Given the description of an element on the screen output the (x, y) to click on. 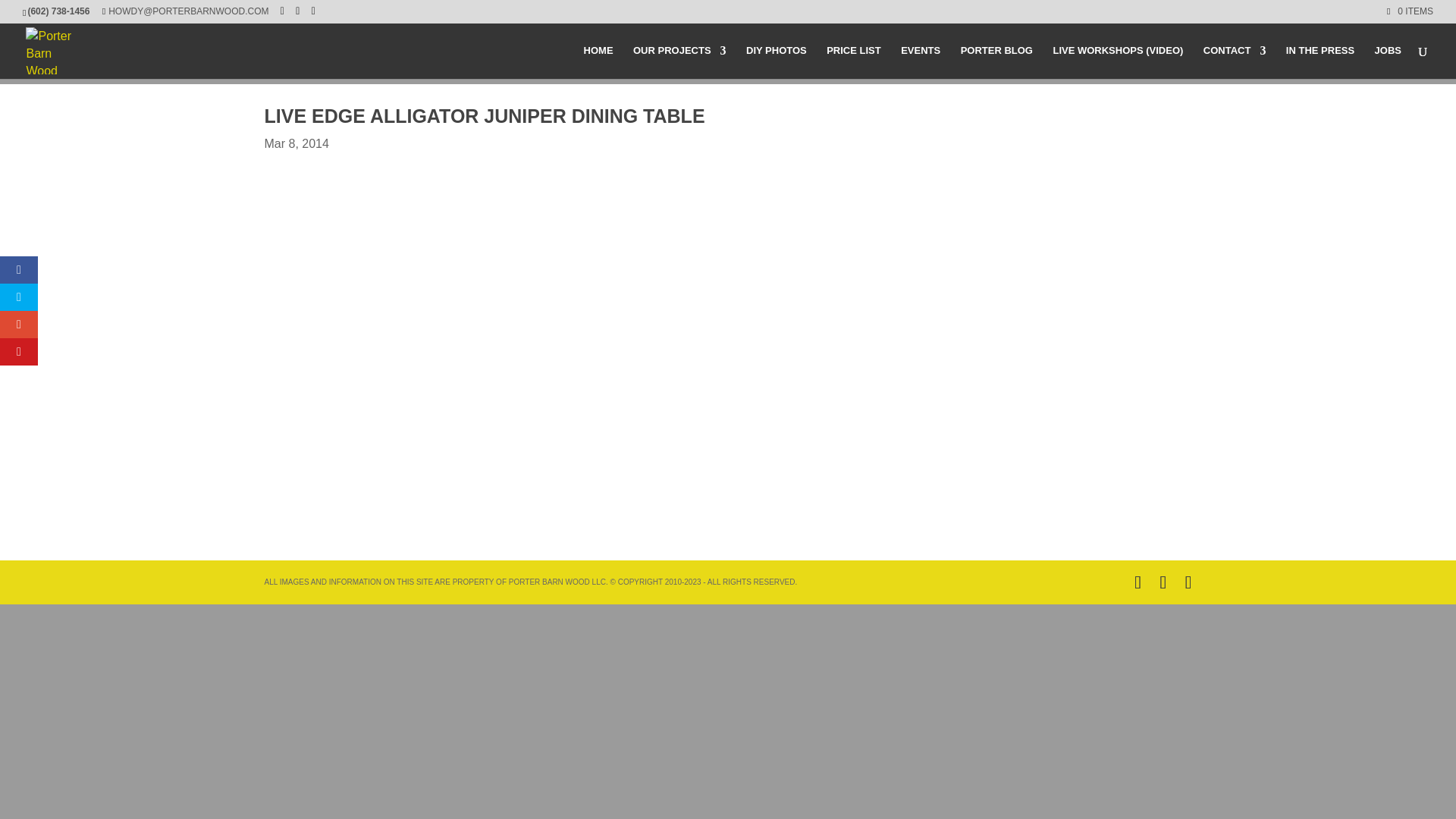
0 ITEMS (1409, 10)
CONTACT (1235, 61)
OUR PROJECTS (679, 61)
DIY PHOTOS (775, 61)
IN THE PRESS (1319, 61)
EVENTS (920, 61)
PRICE LIST (853, 61)
PORTER BLOG (996, 61)
